Given the description of an element on the screen output the (x, y) to click on. 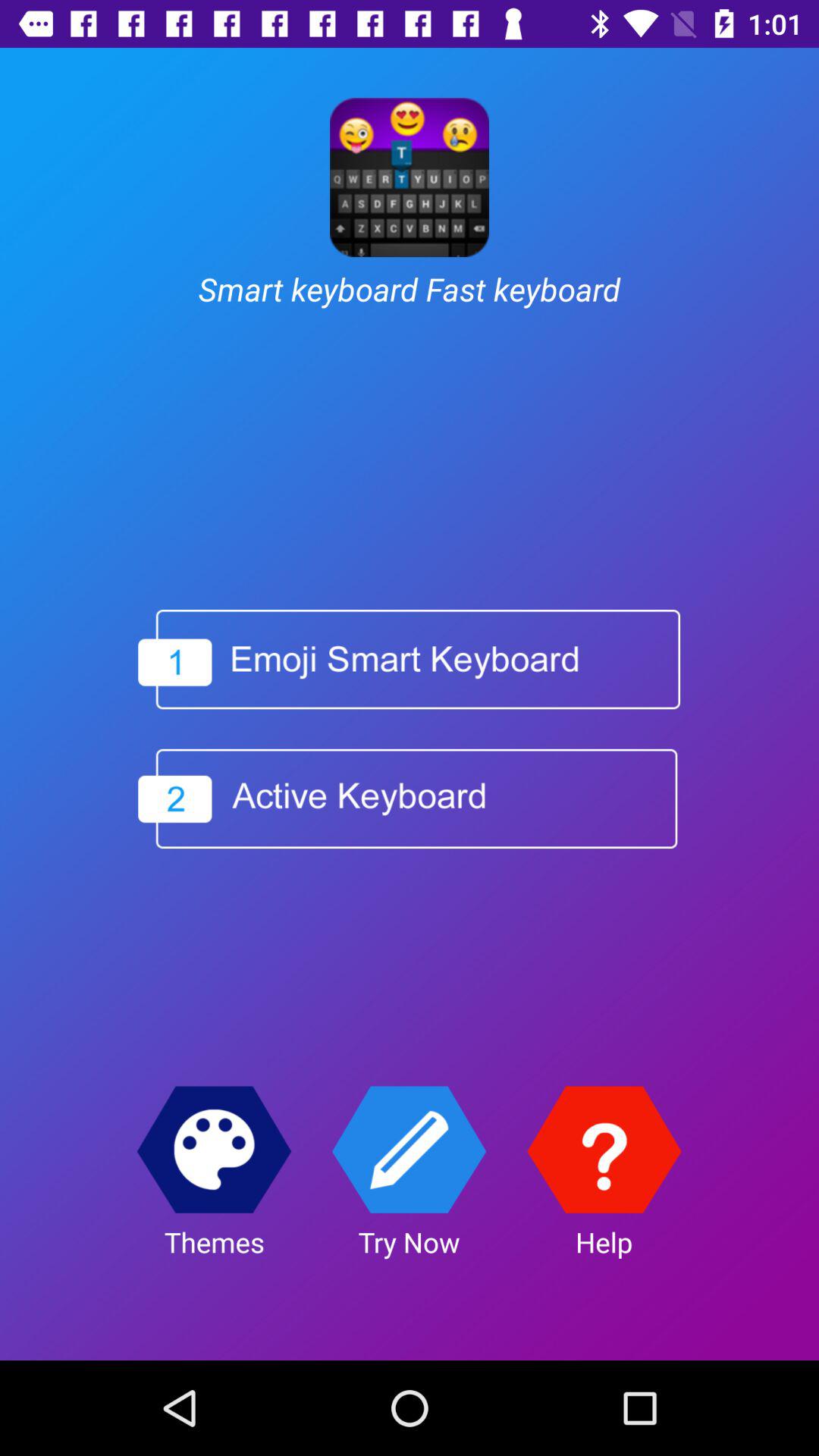
see themes (214, 1149)
